Given the description of an element on the screen output the (x, y) to click on. 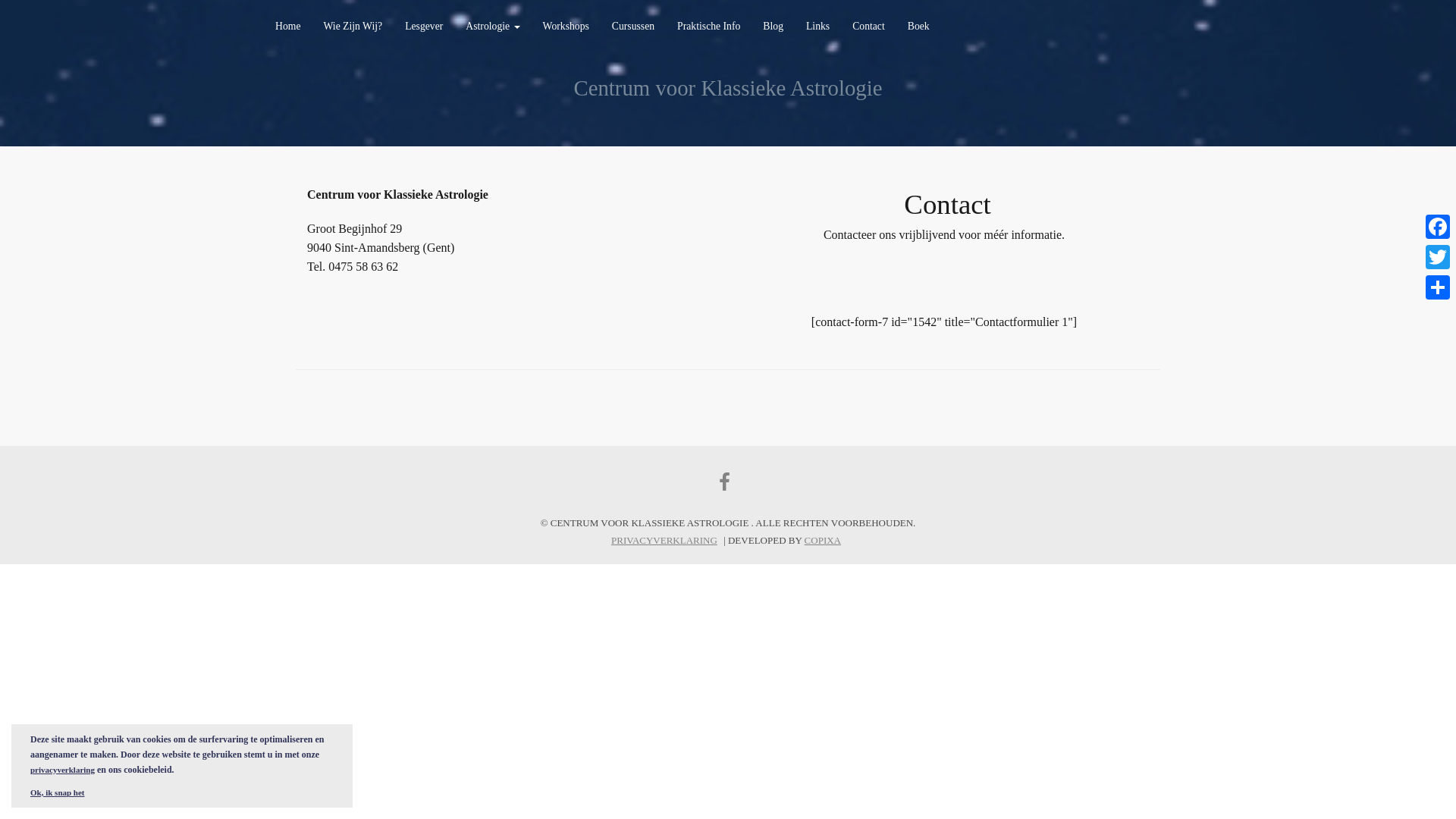
Twitter Element type: text (1437, 256)
Workshops Element type: text (565, 30)
Wie Zijn Wij? Element type: text (352, 30)
Cursussen Element type: text (632, 30)
Blog Element type: text (772, 30)
Boek Element type: text (918, 30)
Praktische Info Element type: text (708, 30)
Contact Element type: text (868, 30)
Home Element type: text (287, 30)
Links Element type: text (817, 30)
Ok, ik snap het Element type: text (57, 792)
Delen Element type: text (1437, 287)
Astrologie Element type: text (492, 30)
PRIVACYVERKLARING Element type: text (664, 540)
COPIXA Element type: text (822, 540)
Facebook Element type: text (1437, 226)
privacyverklaring Element type: text (62, 769)
Lesgever Element type: text (423, 30)
